Given the description of an element on the screen output the (x, y) to click on. 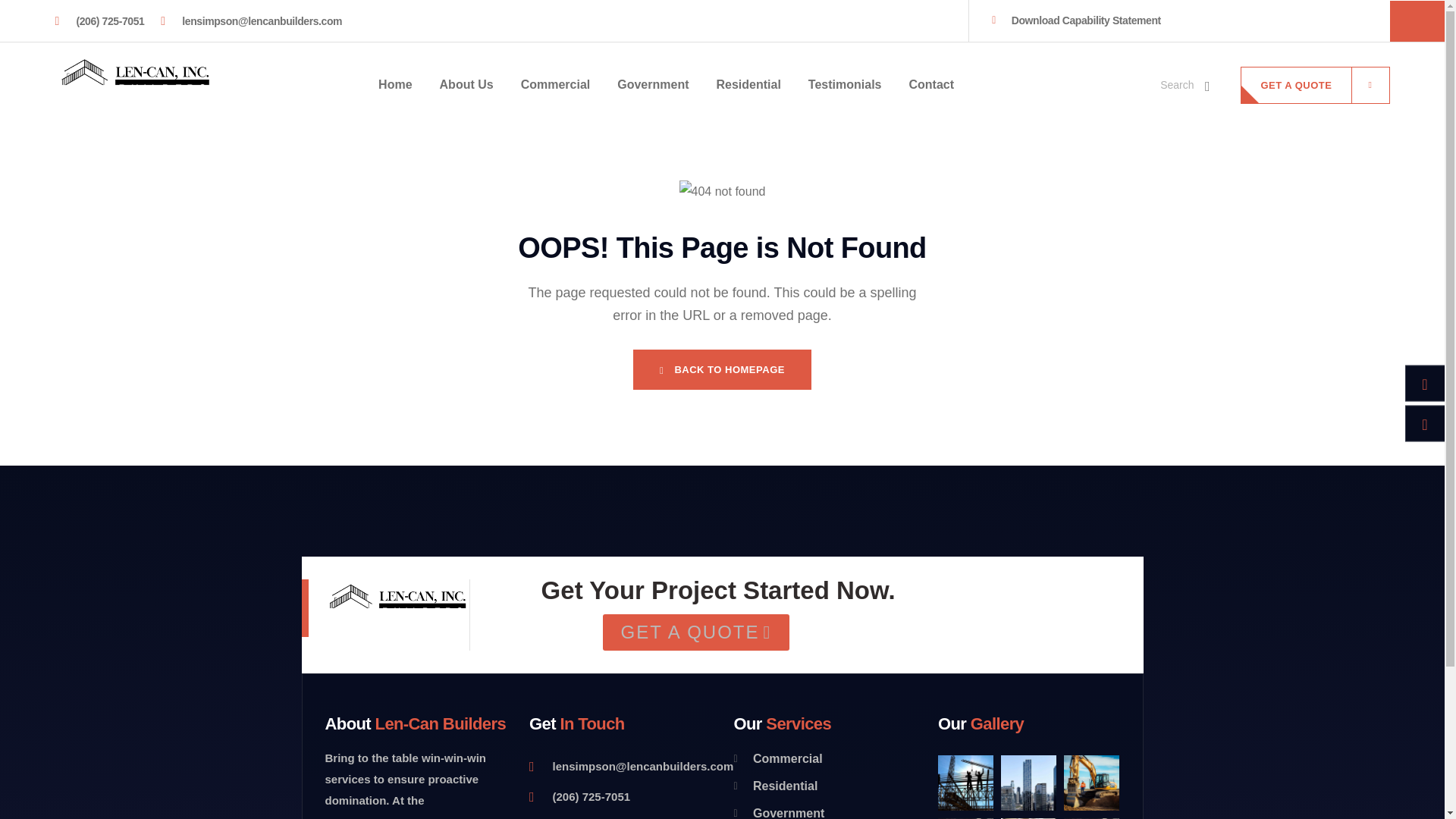
About Us (466, 84)
Home (133, 85)
Residential (748, 84)
Residential (824, 785)
Contact (930, 84)
Government (652, 84)
Government (824, 810)
Search (1186, 84)
Commercial (556, 84)
Home (395, 84)
